Given the description of an element on the screen output the (x, y) to click on. 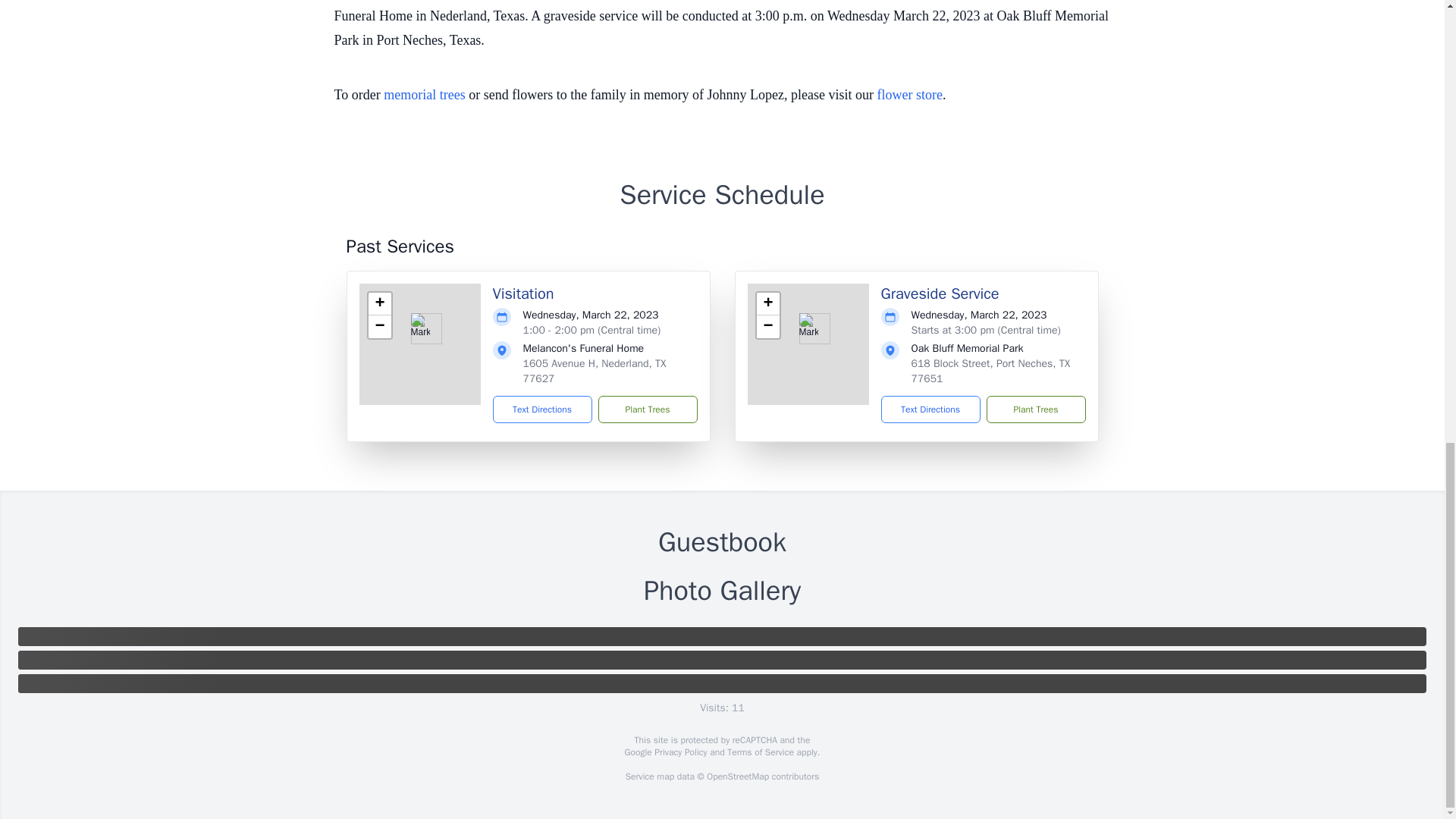
Zoom in (379, 303)
Zoom in (767, 303)
618 Block Street, Port Neches, TX 77651 (990, 370)
Zoom out (379, 326)
Zoom out (767, 326)
Plant Trees (1034, 409)
flower store (909, 94)
Text Directions (929, 409)
OpenStreetMap (737, 776)
Plant Trees (646, 409)
Text Directions (542, 409)
memorial trees (424, 94)
Terms of Service (759, 752)
1605 Avenue H, Nederland, TX 77627 (594, 370)
Privacy Policy (679, 752)
